Given the description of an element on the screen output the (x, y) to click on. 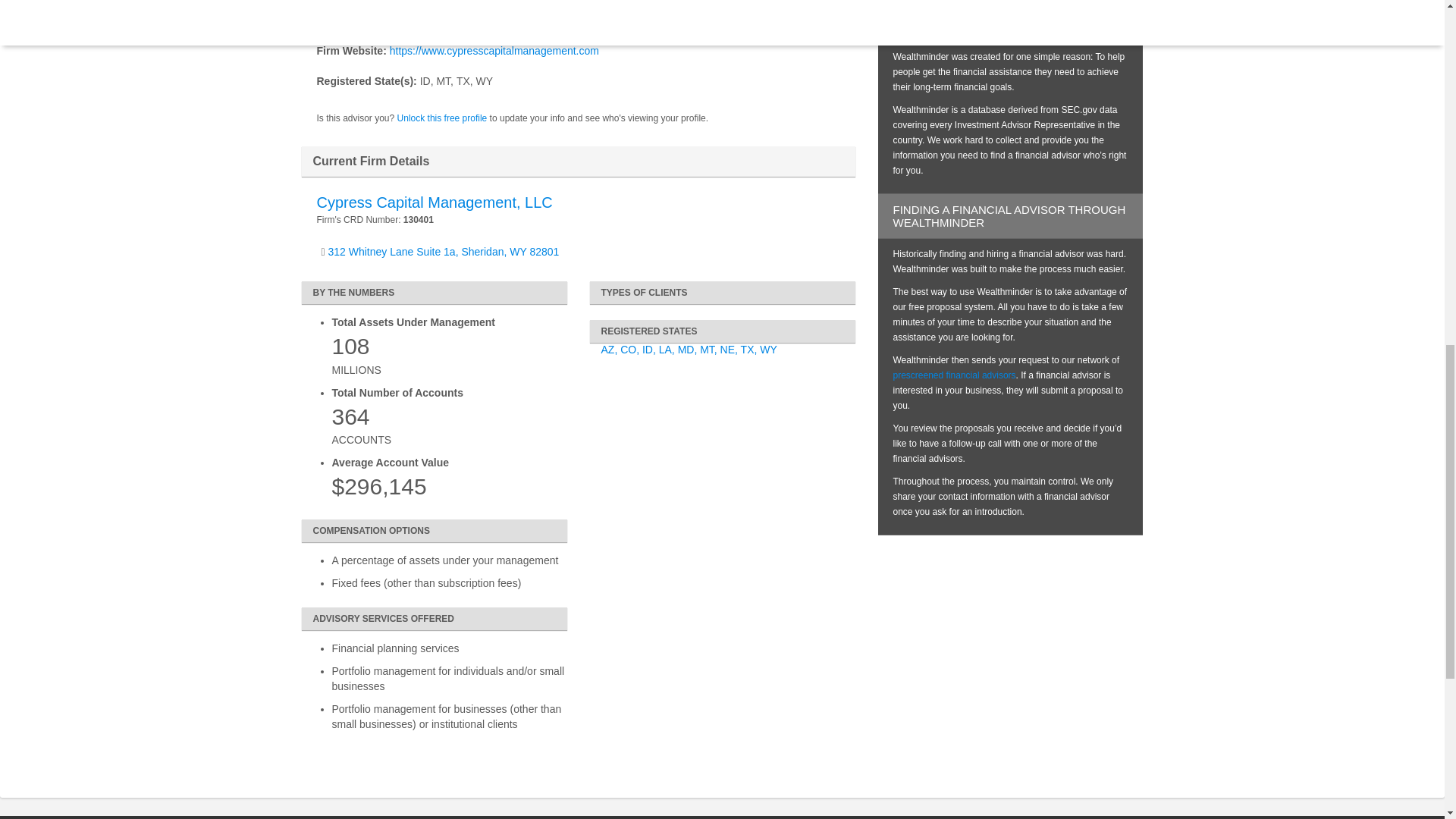
Unlock this free profile (442, 118)
312 Whitney Lane Suite 1a, Sheridan, WY 82801 (444, 251)
Cypress Capital Management, LLC (435, 202)
312 Whitney Lane Suite 1a, Sheridan, WY 82801 (438, 12)
307-674-1770 (443, 28)
